Given the description of an element on the screen output the (x, y) to click on. 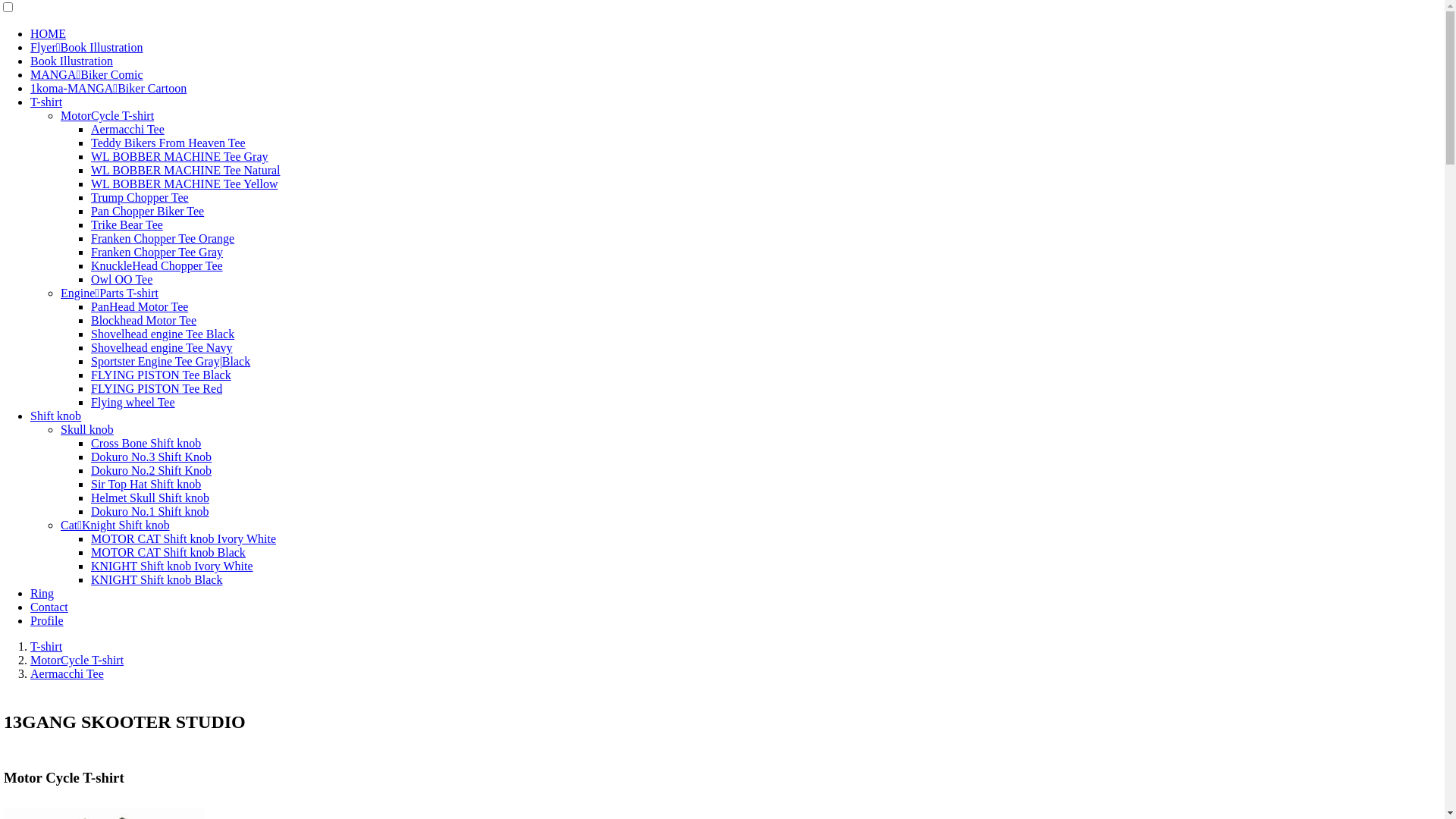
Helmet Skull Shift knob Element type: text (150, 497)
Contact Element type: text (49, 606)
HOME Element type: text (47, 33)
PanHead Motor Tee Element type: text (139, 306)
Pan Chopper Biker Tee Element type: text (147, 210)
Ring Element type: text (41, 592)
WL BOBBER MACHINE Tee Yellow Element type: text (184, 183)
Dokuro No.1 Shift knob Element type: text (150, 511)
Flying wheel Tee Element type: text (133, 401)
Aermacchi Tee Element type: text (127, 128)
MOTOR CAT Shift knob Ivory White Element type: text (183, 538)
KnuckleHead Chopper Tee Element type: text (156, 265)
Cross Bone Shift knob Element type: text (145, 442)
MOTOR CAT Shift knob Black Element type: text (168, 552)
Trike Bear Tee Element type: text (127, 224)
T-shirt Element type: text (46, 101)
Profile Element type: text (46, 620)
Book Illustration Element type: text (71, 60)
Dokuro No.3 Shift Knob Element type: text (151, 456)
Sportster Engine Tee Gray|Black Element type: text (170, 360)
Franken Chopper Tee Gray Element type: text (156, 251)
Sir Top Hat Shift knob Element type: text (145, 483)
WL BOBBER MACHINE Tee Gray Element type: text (179, 156)
Aermacchi Tee Element type: text (66, 673)
Owl OO Tee Element type: text (121, 279)
Skull knob Element type: text (86, 429)
MotorCycle T-shirt Element type: text (76, 659)
KNIGHT Shift knob Ivory White Element type: text (172, 565)
FLYING PISTON Tee Black Element type: text (161, 374)
Blockhead Motor Tee Element type: text (143, 319)
Trump Chopper Tee Element type: text (139, 197)
Teddy Bikers From Heaven Tee Element type: text (168, 142)
MotorCycle T-shirt Element type: text (106, 115)
KNIGHT Shift knob Black Element type: text (156, 579)
Dokuro No.2 Shift Knob Element type: text (151, 470)
FLYING PISTON Tee Red Element type: text (156, 388)
Shift knob Element type: text (55, 415)
Shovelhead engine Tee Navy Element type: text (161, 347)
Shovelhead engine Tee Black Element type: text (162, 333)
T-shirt Element type: text (46, 646)
WL BOBBER MACHINE Tee Natural Element type: text (185, 169)
Franken Chopper Tee Orange Element type: text (162, 238)
